Given the description of an element on the screen output the (x, y) to click on. 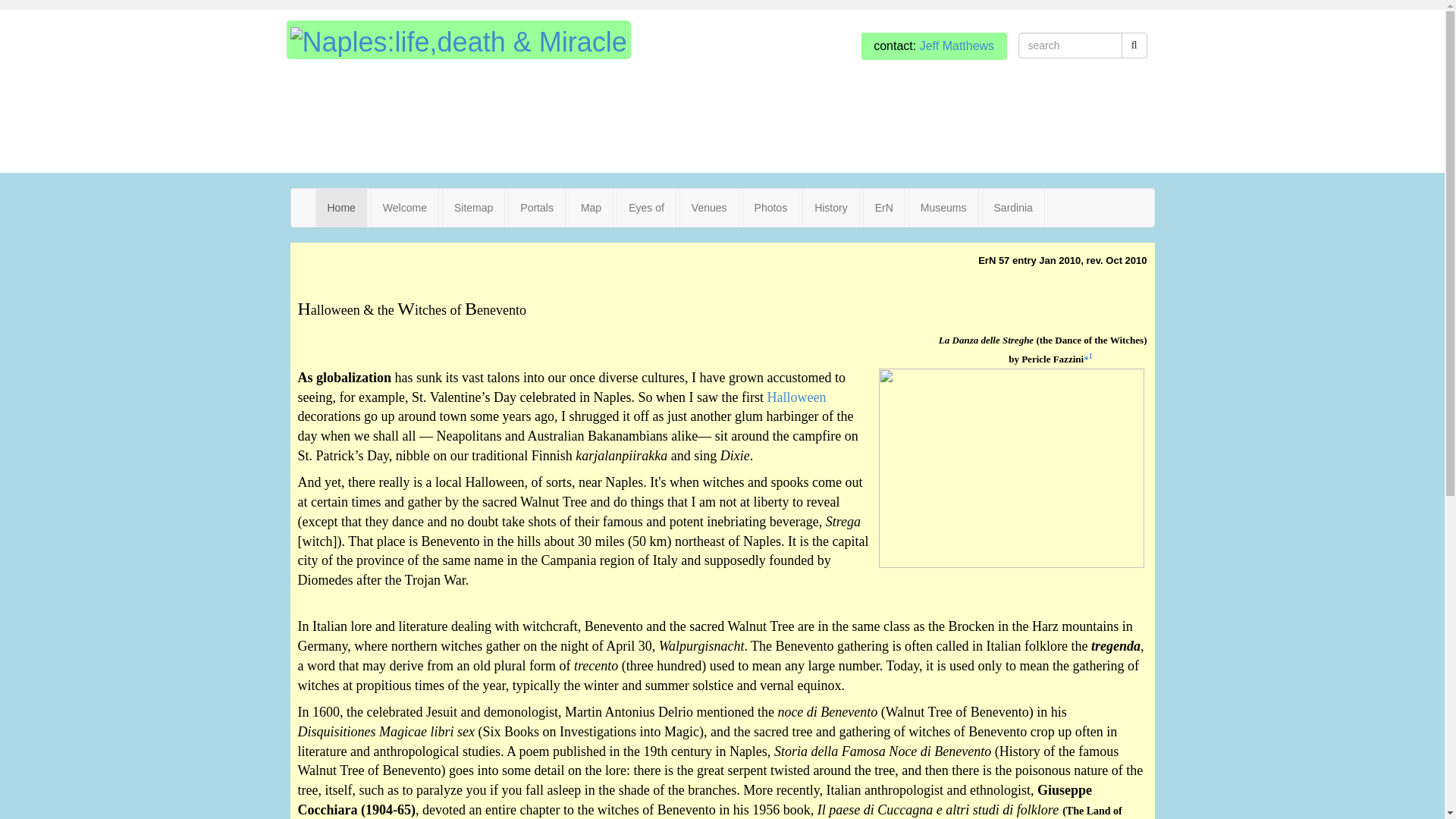
History (831, 207)
Home (340, 207)
Welcome (404, 207)
ErN (883, 207)
Sitemap (472, 207)
Photos (770, 207)
Portals (536, 207)
Jeff Matthews (957, 45)
Museums (943, 207)
Eyes of (646, 207)
